Given the description of an element on the screen output the (x, y) to click on. 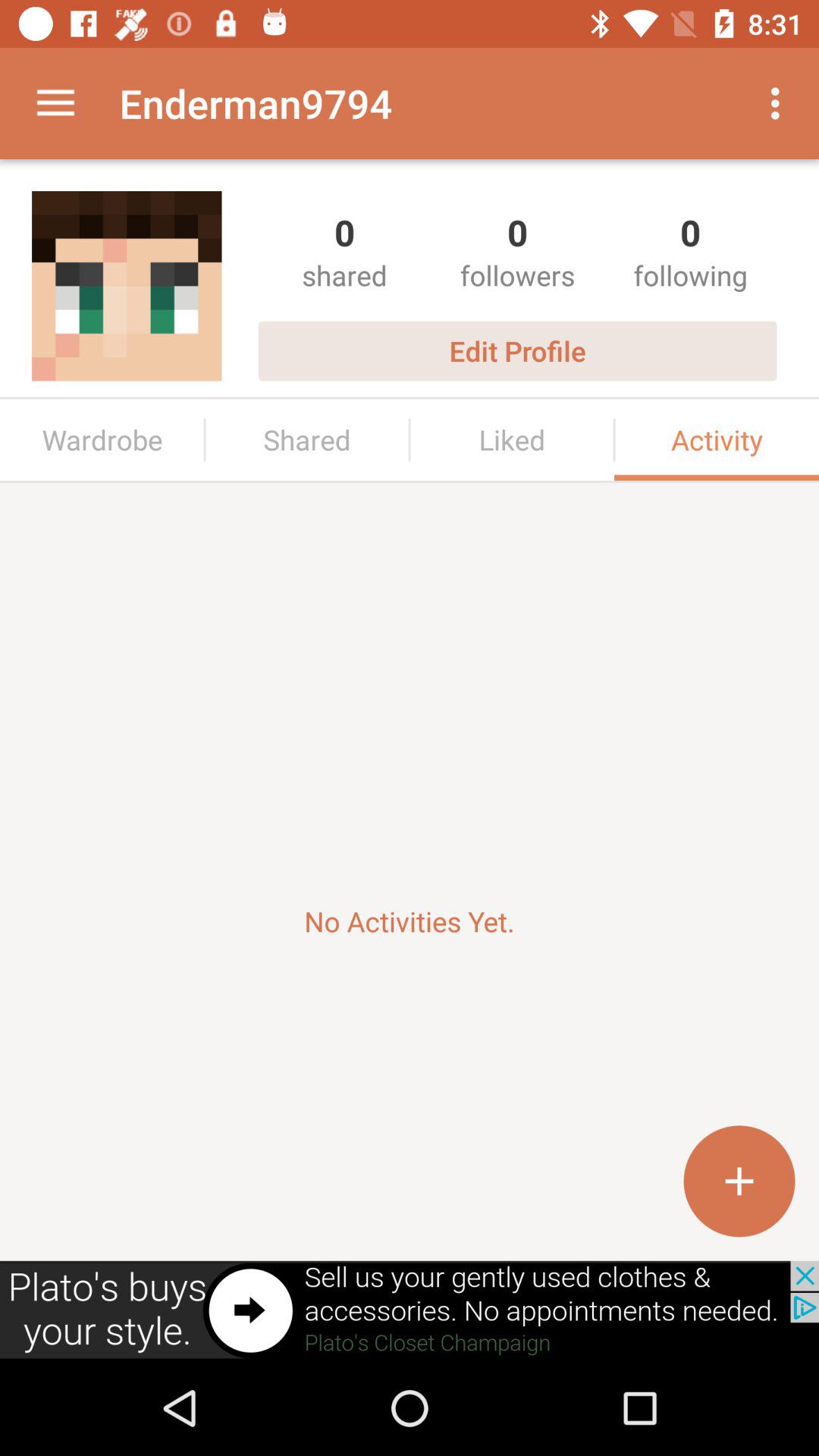
go to incerase (739, 1181)
